Given the description of an element on the screen output the (x, y) to click on. 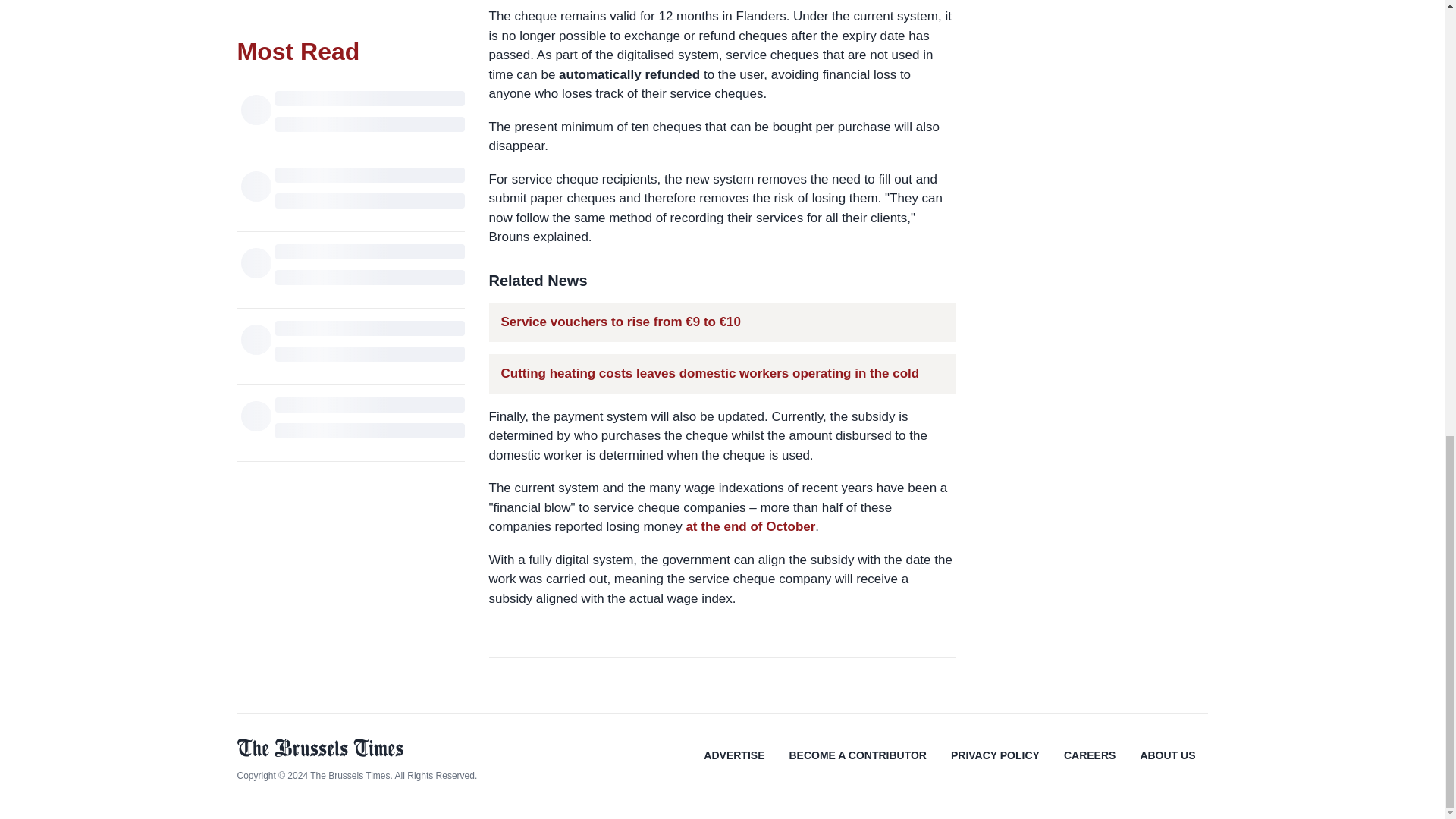
at the end of October (750, 526)
BECOME A CONTRIBUTOR (856, 766)
PRIVACY POLICY (995, 766)
CAREERS (1088, 766)
ADVERTISE (733, 766)
ABOUT US (1166, 766)
